Given the description of an element on the screen output the (x, y) to click on. 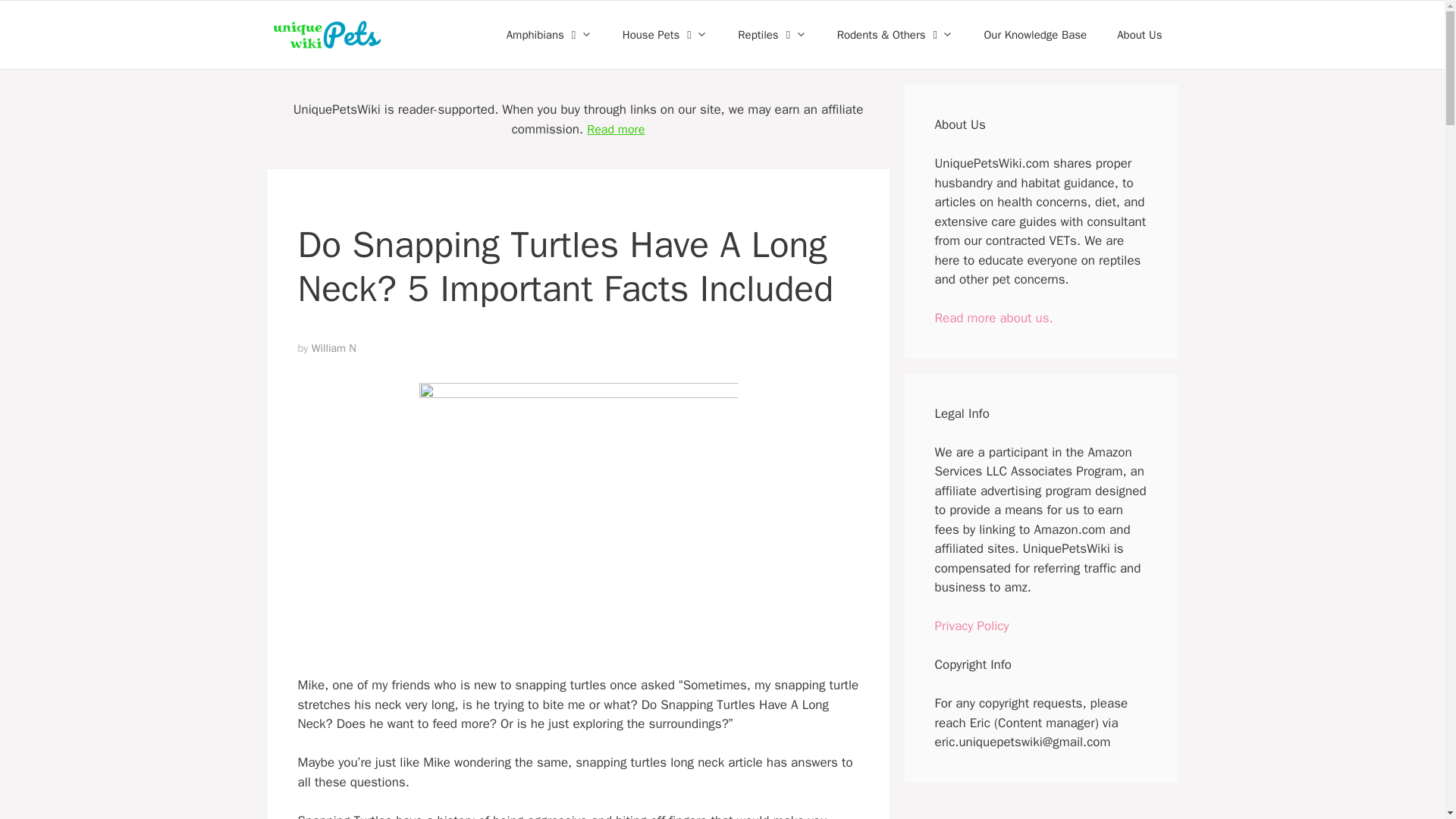
Our Knowledge Base (1035, 34)
Read more (615, 128)
View all posts by William N (333, 347)
UniquePetsWiki (325, 34)
About Us (1139, 34)
Reptiles (771, 34)
William N (333, 347)
UniquePetsWiki (329, 34)
House Pets (665, 34)
Amphibians (549, 34)
